Given the description of an element on the screen output the (x, y) to click on. 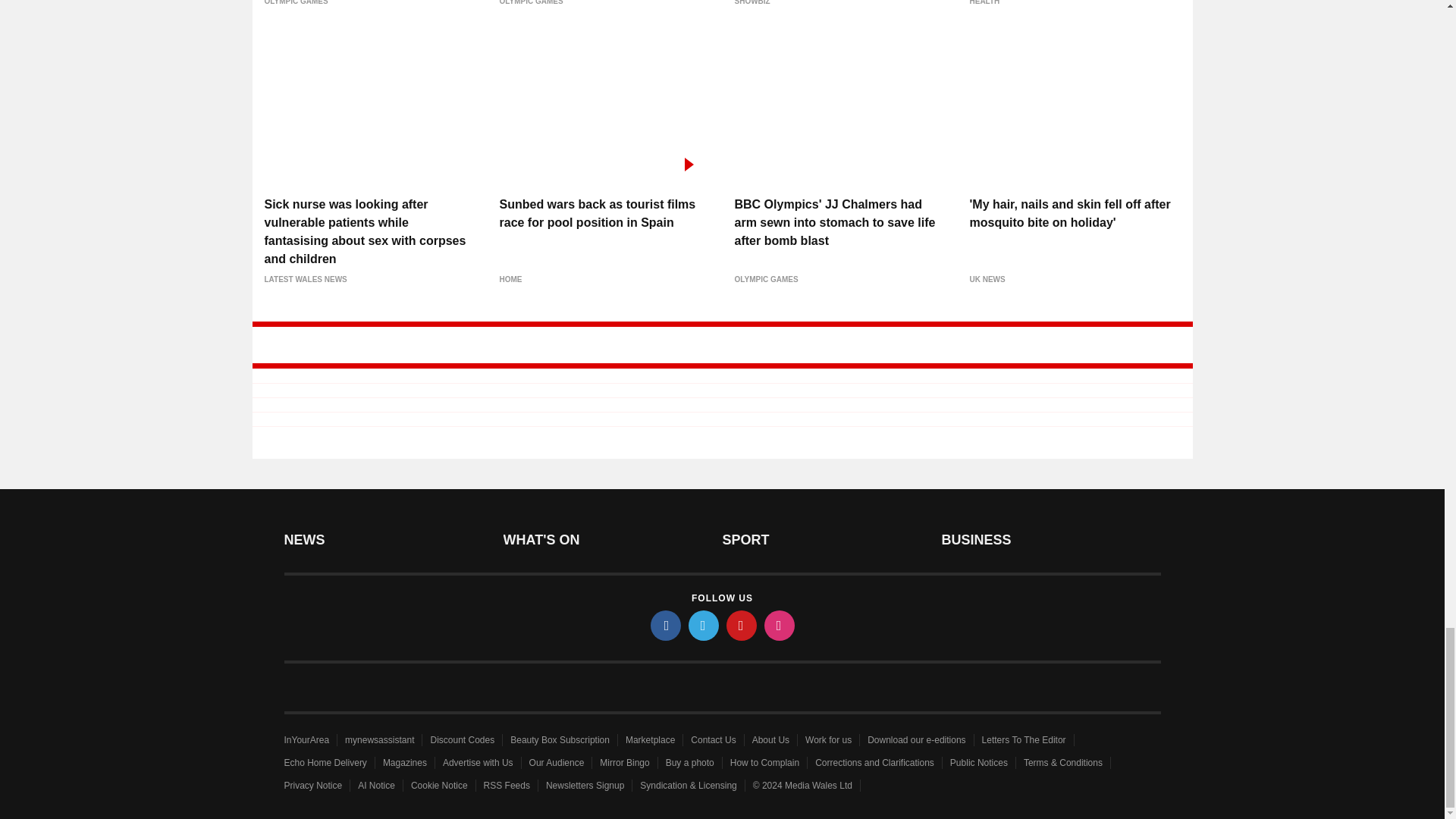
twitter (703, 624)
facebook (665, 624)
pinterest (741, 624)
instagram (779, 624)
